Given the description of an element on the screen output the (x, y) to click on. 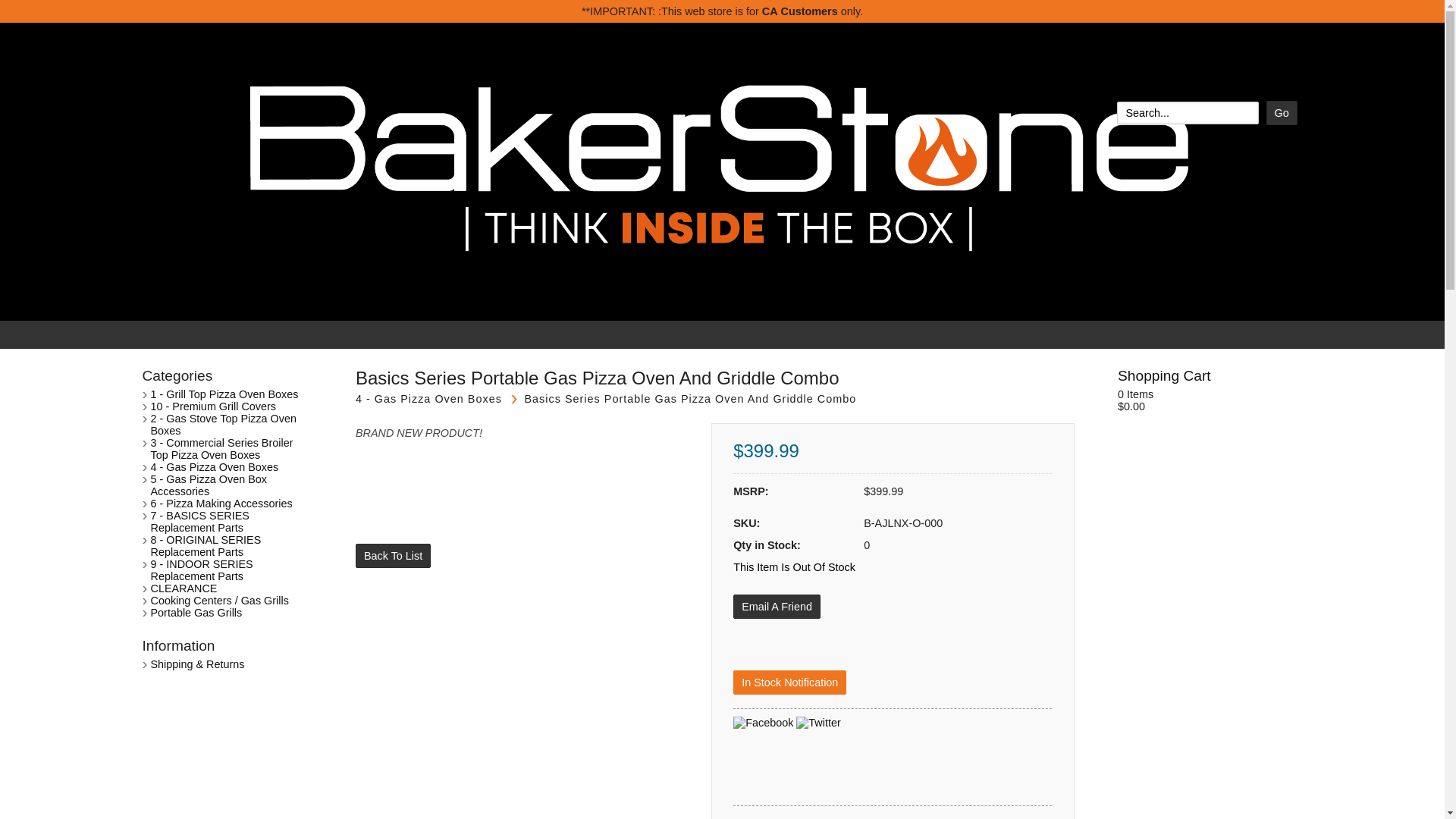
9 - INDOOR SERIES Replacement Parts Element type: text (201, 570)
Go Element type: text (1281, 112)
6 - Pizza Making Accessories Element type: text (220, 503)
8 - ORIGINAL SERIES Replacement Parts Element type: text (205, 545)
Shipping & Returns Element type: text (197, 664)
CLEARANCE Element type: text (183, 588)
Portable Gas Grills Element type: text (195, 612)
4 - Gas Pizza Oven Boxes Element type: text (214, 467)
7 - BASICS SERIES Replacement Parts Element type: text (199, 521)
2 - Gas Stove Top Pizza Oven Boxes Element type: text (223, 424)
Shopping Cart Element type: text (1209, 375)
In Stock Notification Element type: text (789, 682)
10 - Premium Grill Covers Element type: text (213, 406)
1 - Grill Top Pizza Oven Boxes Element type: text (224, 394)
3 - Commercial Series Broiler Top Pizza Oven Boxes Element type: text (221, 448)
5 - Gas Pizza Oven Box Accessories Element type: text (208, 485)
Cooking Centers / Gas Grills Element type: text (219, 600)
Email A Friend Element type: text (776, 606)
Back To List Element type: text (392, 555)
